Given the description of an element on the screen output the (x, y) to click on. 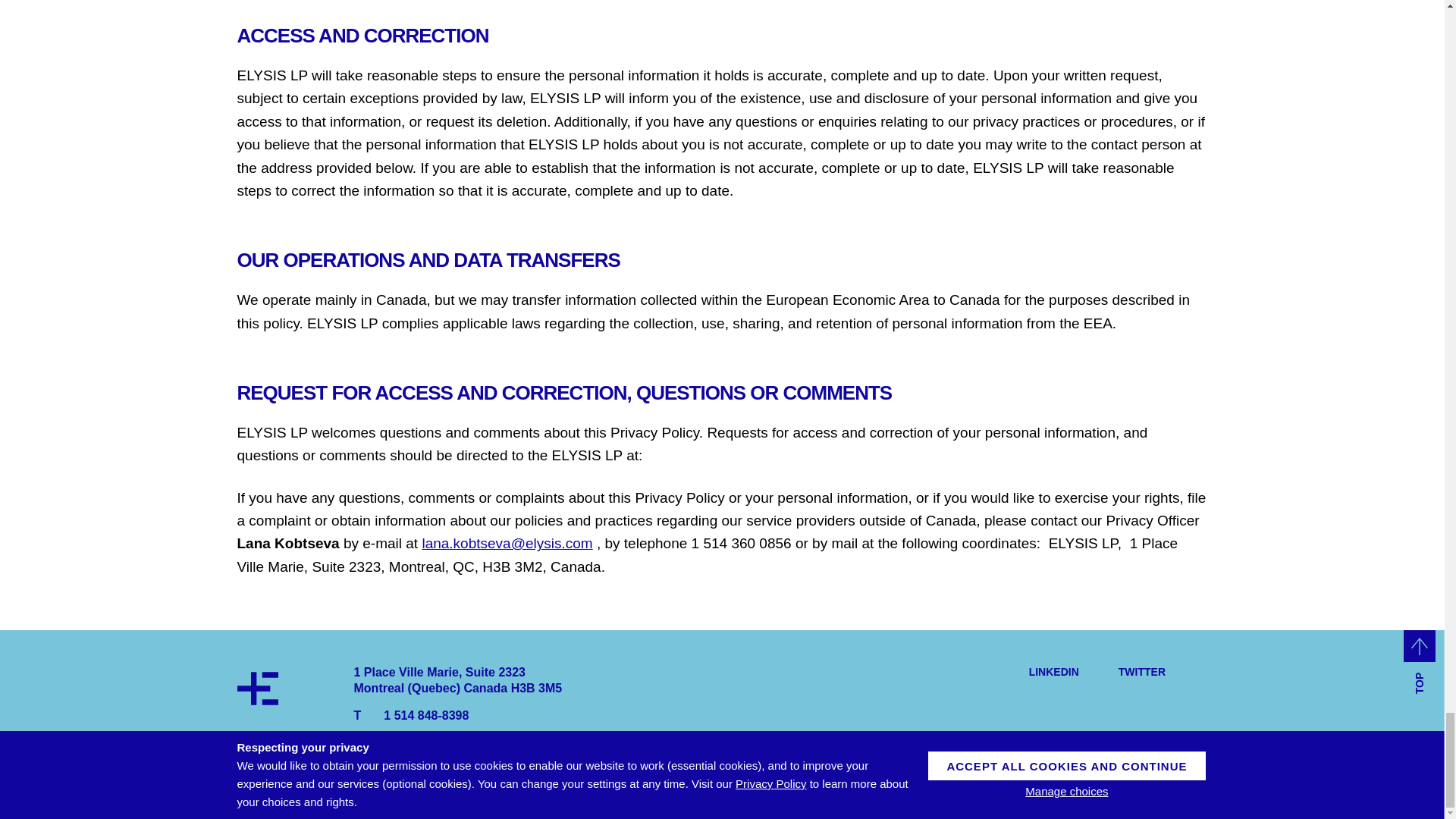
TWITTER (1137, 672)
LINKEDIN (1049, 672)
Manage Cookie Preferences (306, 799)
